Given the description of an element on the screen output the (x, y) to click on. 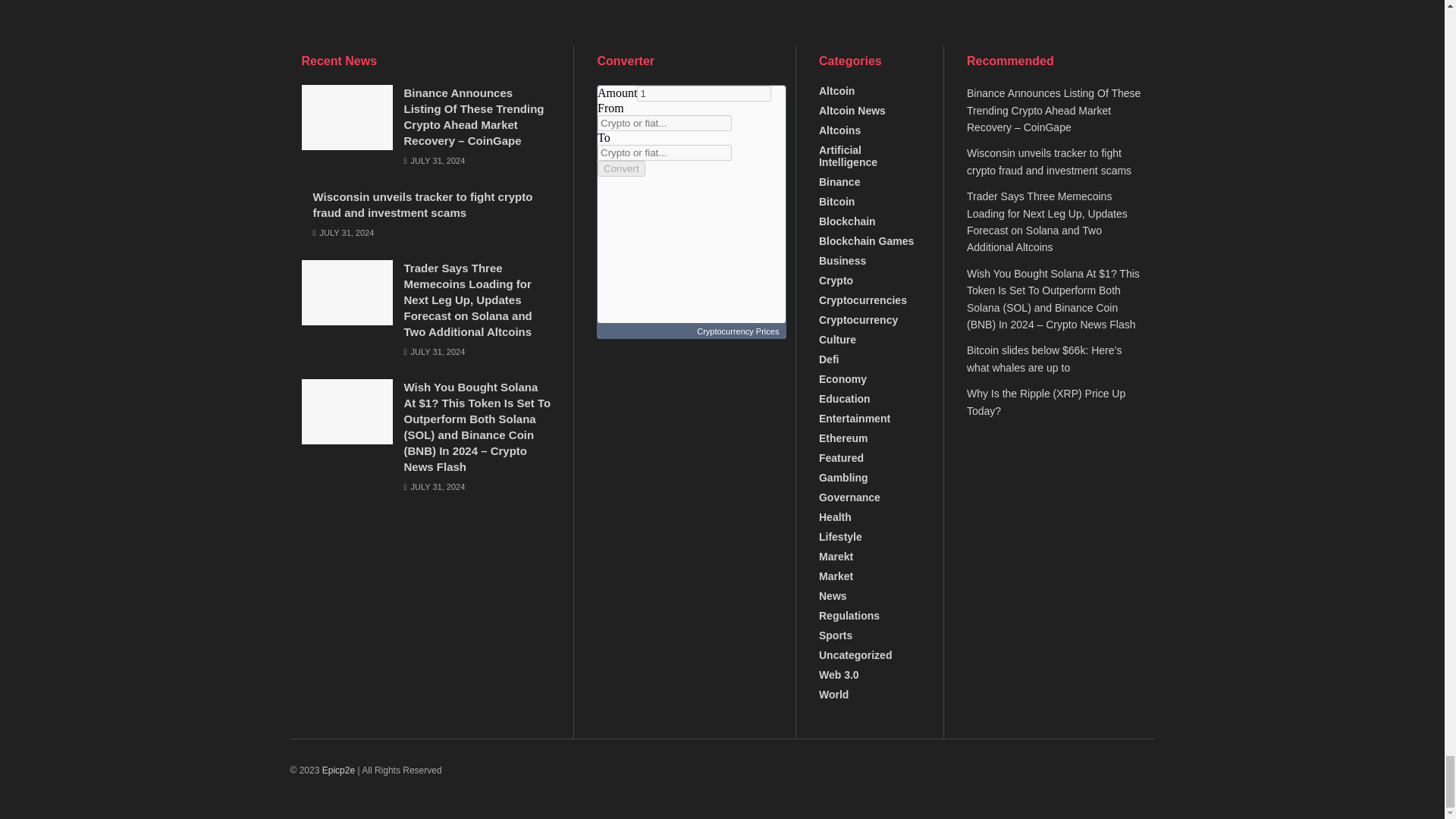
Premium news  (338, 769)
